Given the description of an element on the screen output the (x, y) to click on. 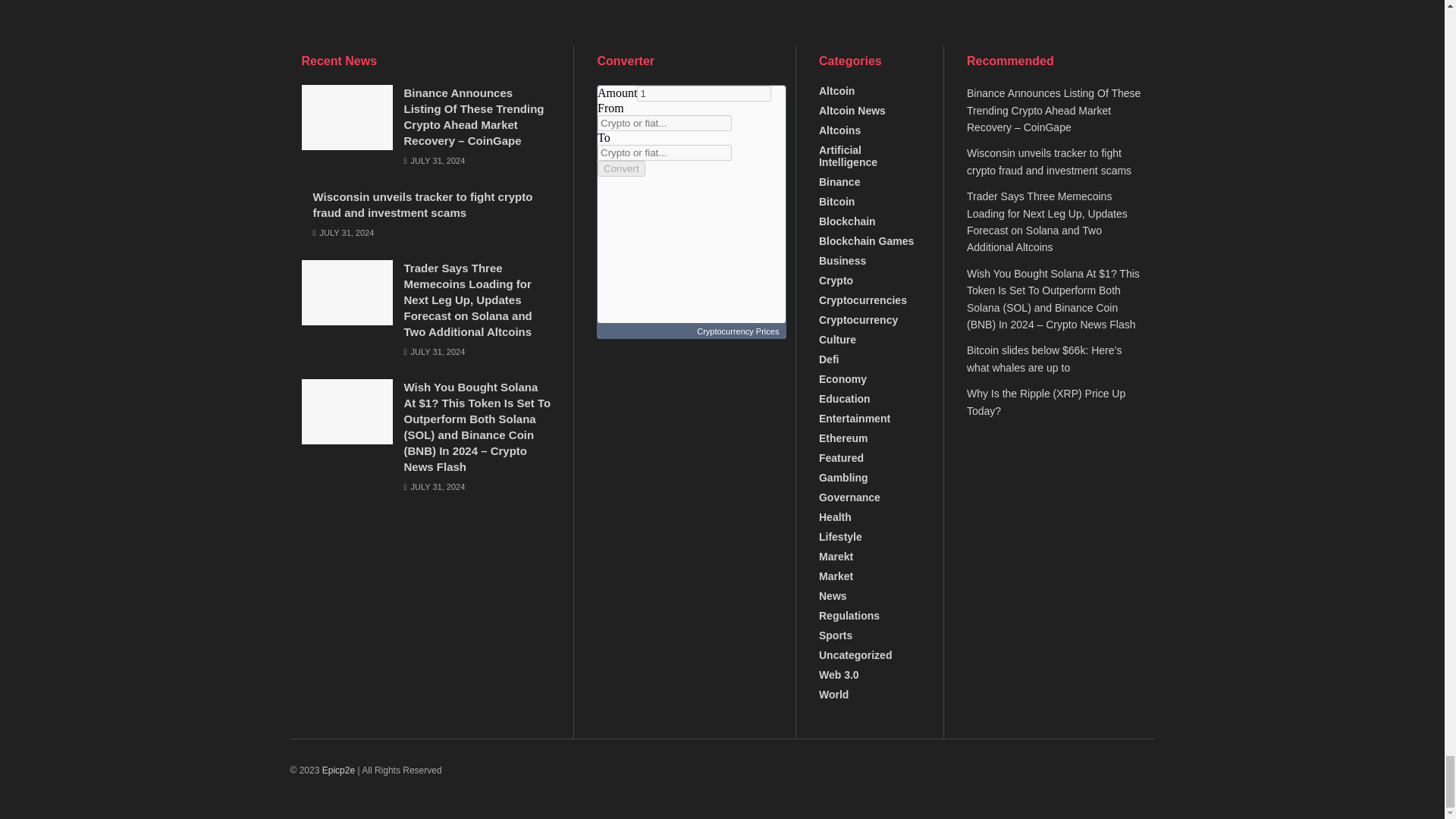
Premium news  (338, 769)
